Given the description of an element on the screen output the (x, y) to click on. 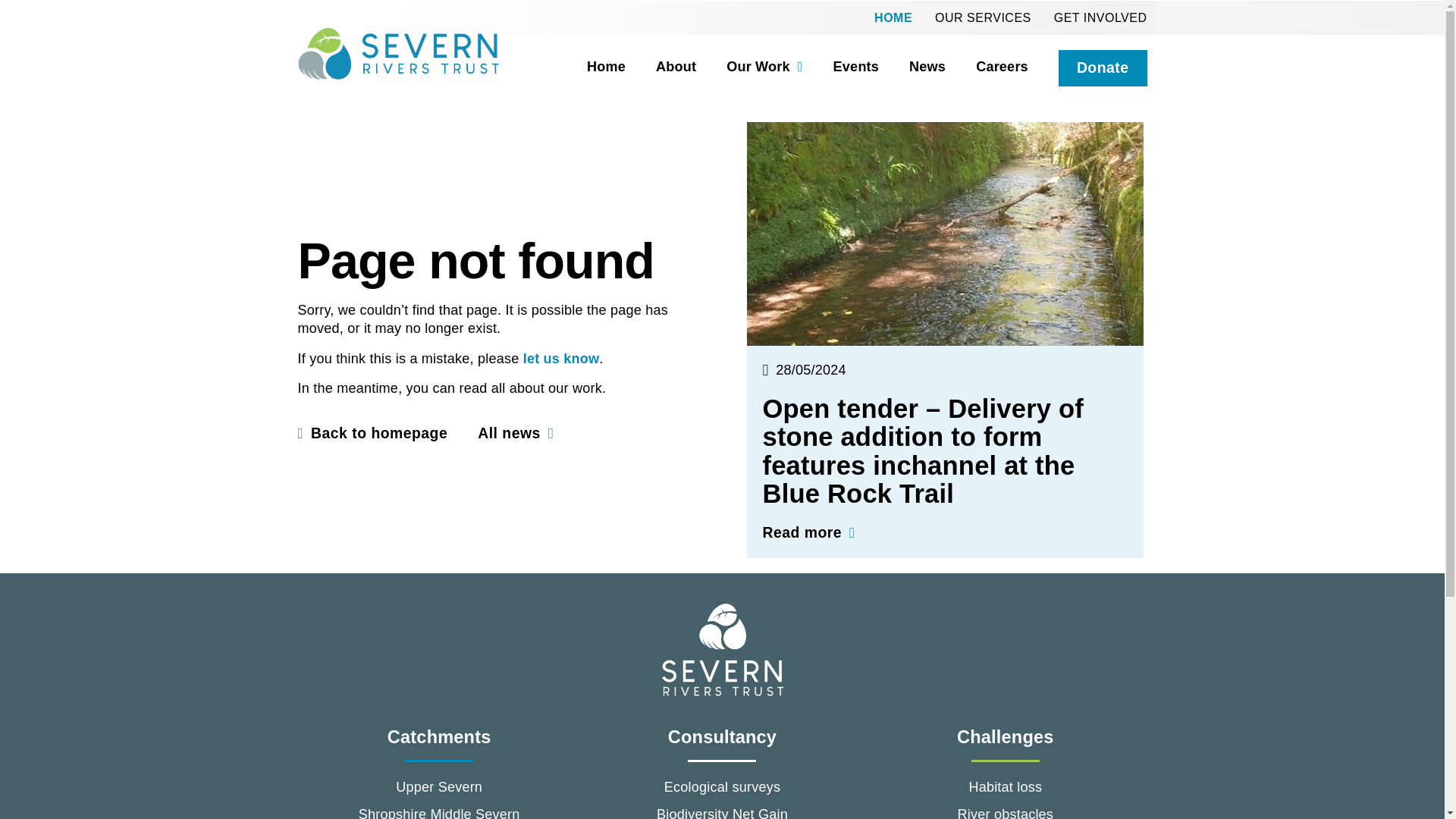
Events (841, 66)
GET INVOLVED (1100, 18)
About (660, 66)
Careers (985, 66)
News (911, 66)
OUR SERVICES (982, 18)
HOME (893, 18)
Donate (1102, 67)
Our Work (748, 66)
Home (591, 66)
